Given the description of an element on the screen output the (x, y) to click on. 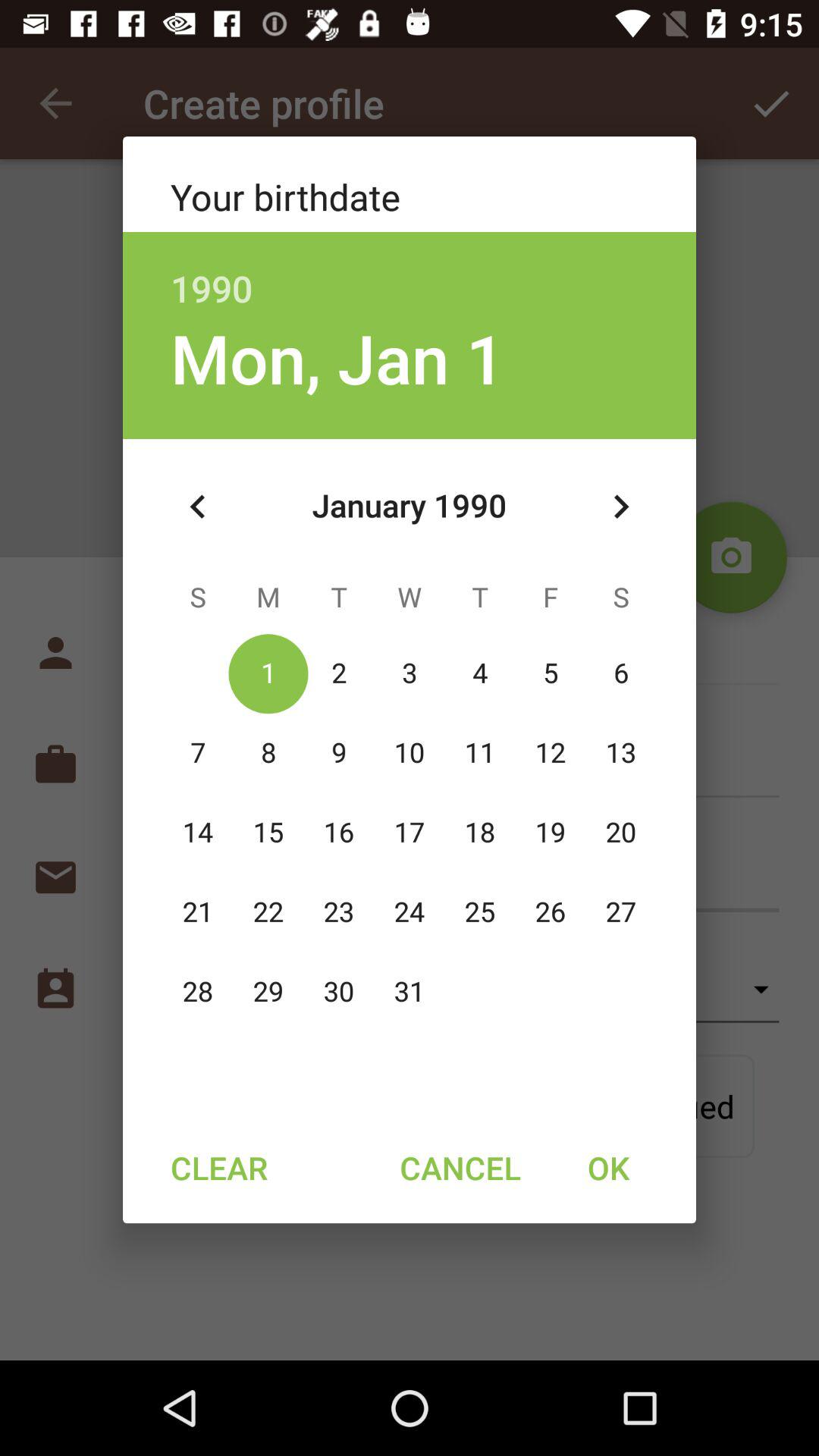
turn on the icon on the right (620, 506)
